Given the description of an element on the screen output the (x, y) to click on. 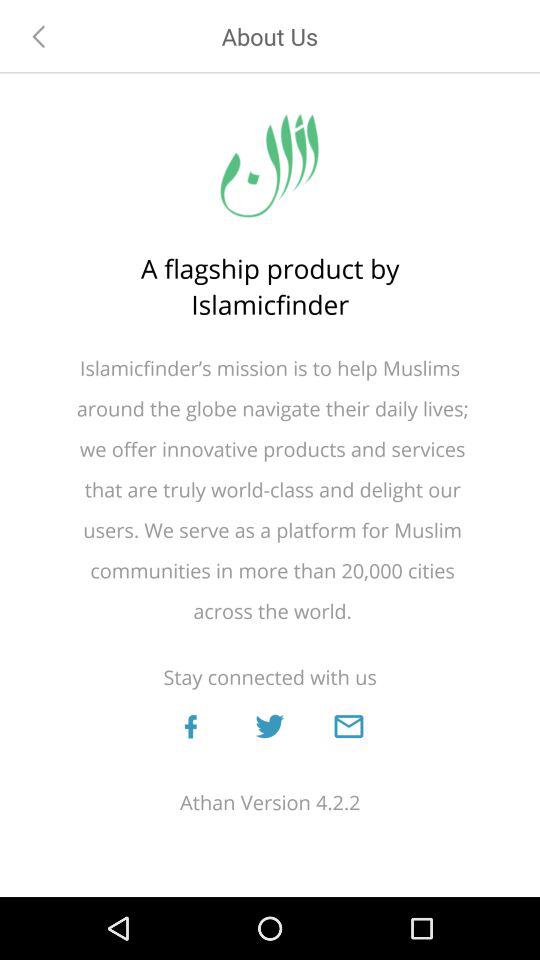
share on twitter (269, 726)
